Given the description of an element on the screen output the (x, y) to click on. 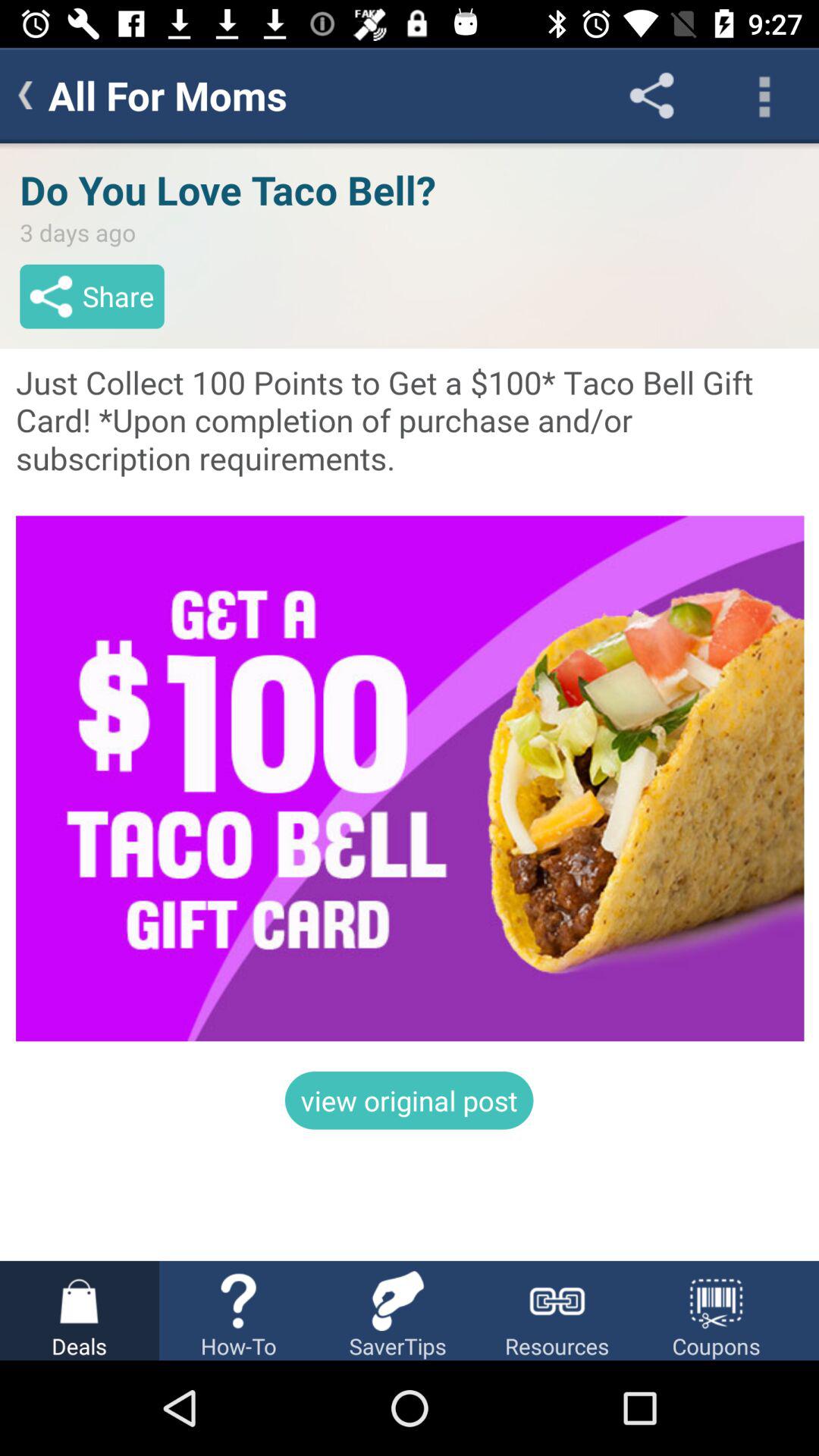
tap the app above the view original post (409, 702)
